Given the description of an element on the screen output the (x, y) to click on. 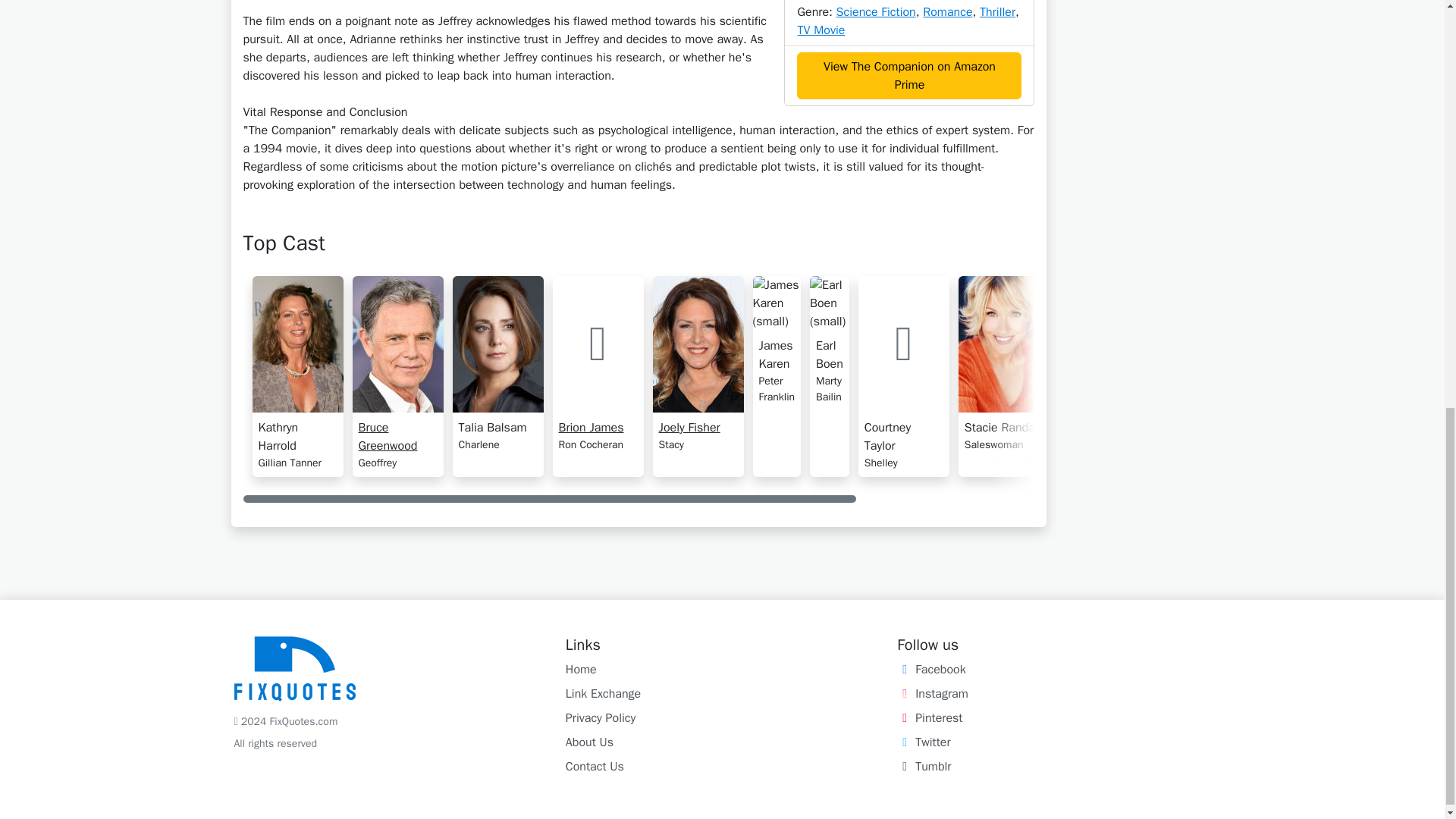
Thriller (996, 11)
About Us (589, 742)
Home (581, 669)
Twitter (923, 742)
Pinterest (929, 717)
Science Fiction (875, 11)
Link Exchange (603, 693)
Contact Us (595, 766)
View The Companion on Amazon Prime (909, 75)
